Given the description of an element on the screen output the (x, y) to click on. 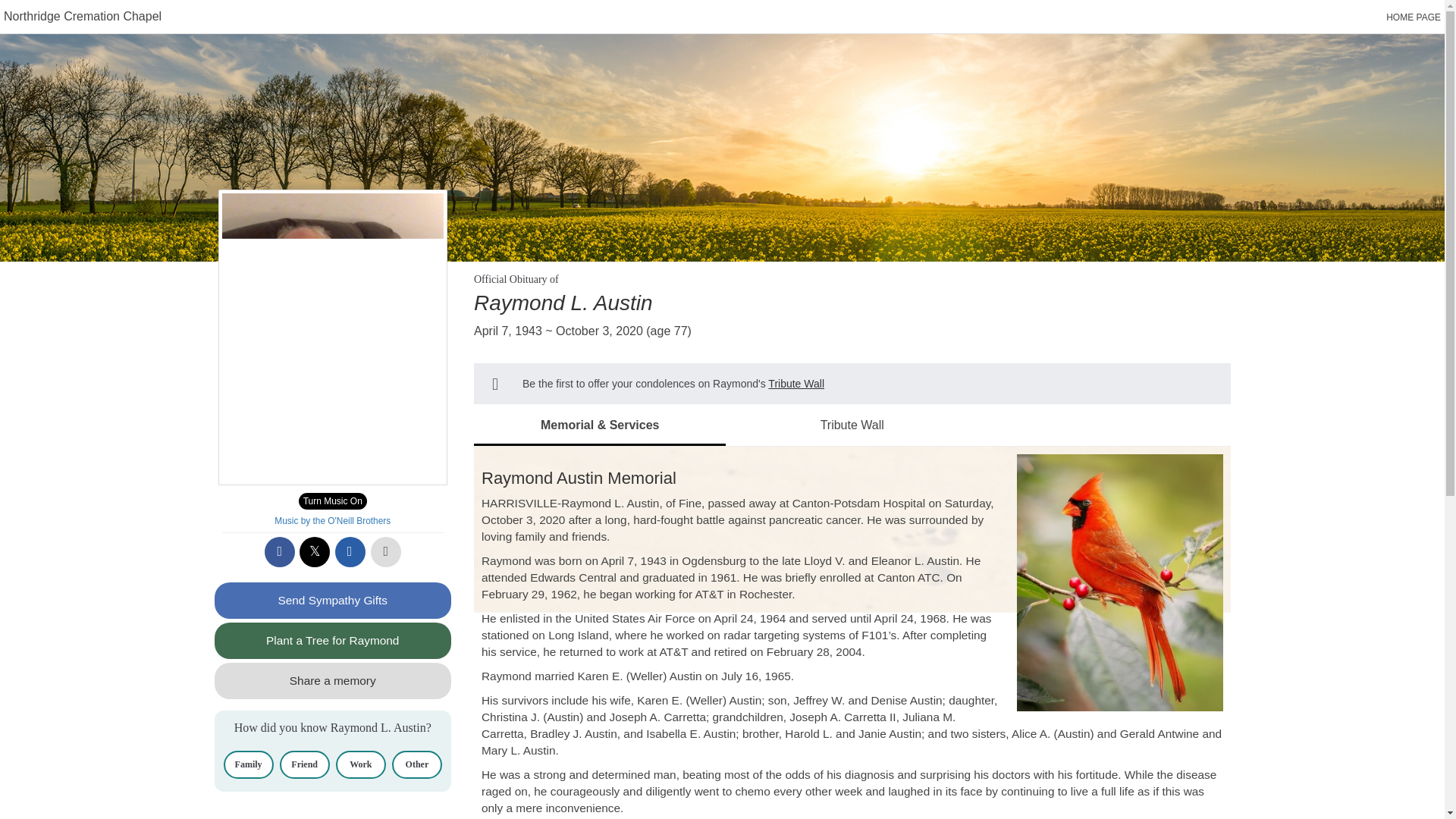
Printable copy (386, 552)
Share via email (349, 552)
HOME PAGE (1413, 17)
Music by the O'Neill Brothers (332, 520)
Turn Music On (332, 501)
Tribute Wall (796, 383)
Plant a Tree for Raymond (332, 640)
Share on X (314, 552)
Send Sympathy Gifts (332, 600)
Share a memory (332, 680)
